Given the description of an element on the screen output the (x, y) to click on. 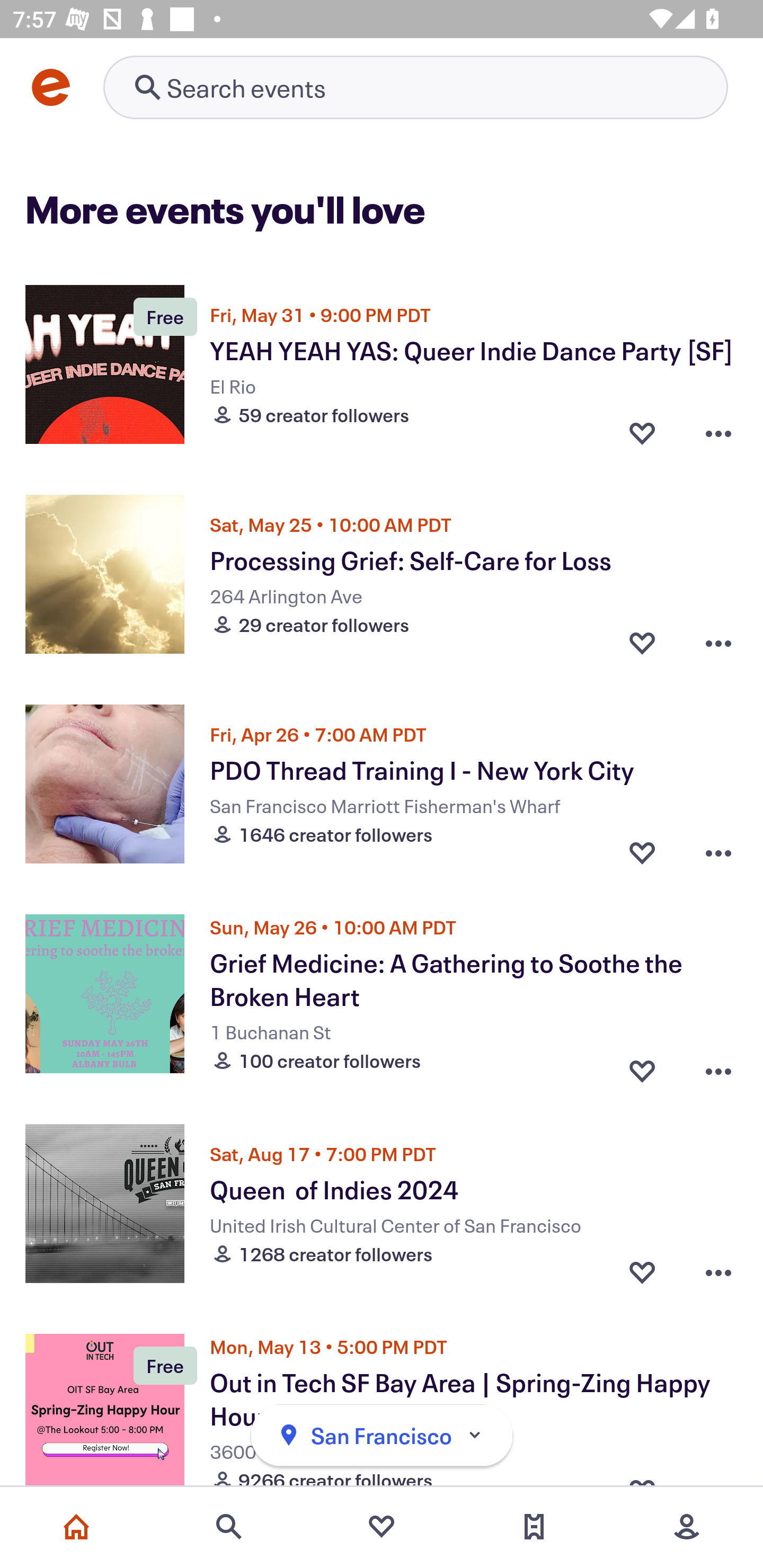
Retry's image Search events (415, 86)
Favorite button (642, 431)
Overflow menu button (718, 431)
Favorite button (642, 641)
Overflow menu button (718, 641)
Favorite button (642, 852)
Overflow menu button (718, 852)
Favorite button (642, 1066)
Overflow menu button (718, 1066)
Favorite button (642, 1271)
Overflow menu button (718, 1271)
San Francisco (381, 1435)
Home (76, 1526)
Search events (228, 1526)
Favorites (381, 1526)
Tickets (533, 1526)
More (686, 1526)
